Given the description of an element on the screen output the (x, y) to click on. 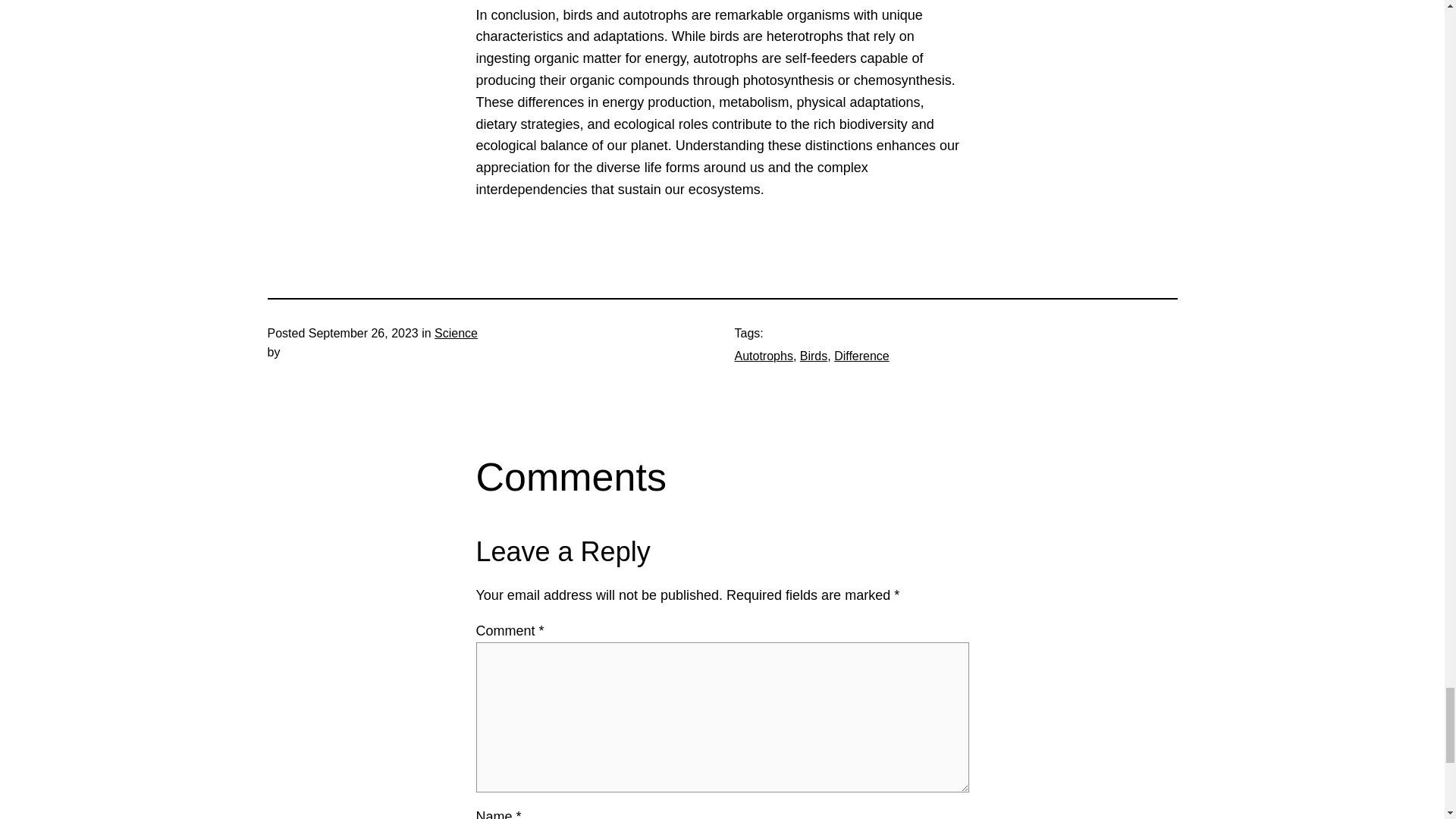
Science (455, 332)
Birds (813, 355)
Difference (861, 355)
Autotrophs (762, 355)
